Given the description of an element on the screen output the (x, y) to click on. 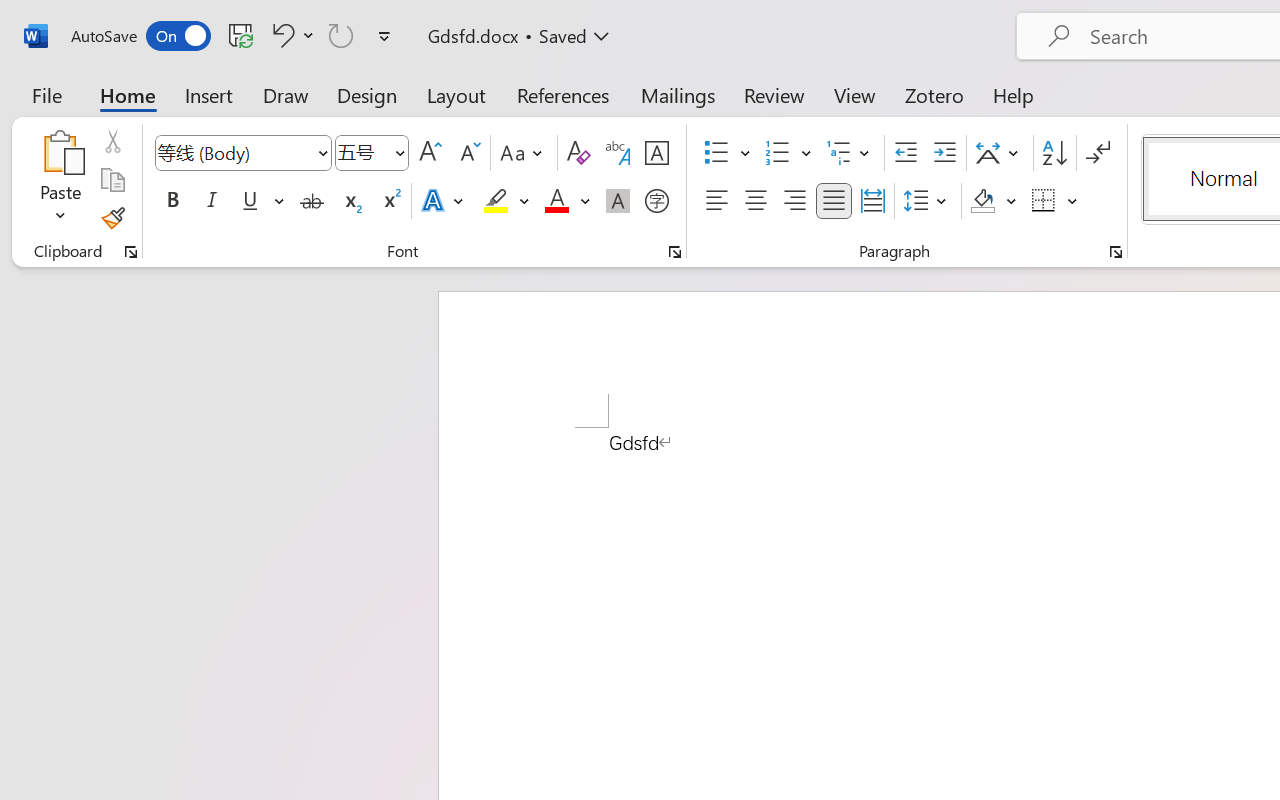
Line and Paragraph Spacing (927, 201)
Change Case (524, 153)
Can't Repeat (341, 35)
Office Clipboard... (131, 252)
Grow Font (430, 153)
Font... (675, 252)
Center (756, 201)
Character Shading (618, 201)
Clear Formatting (578, 153)
